Given the description of an element on the screen output the (x, y) to click on. 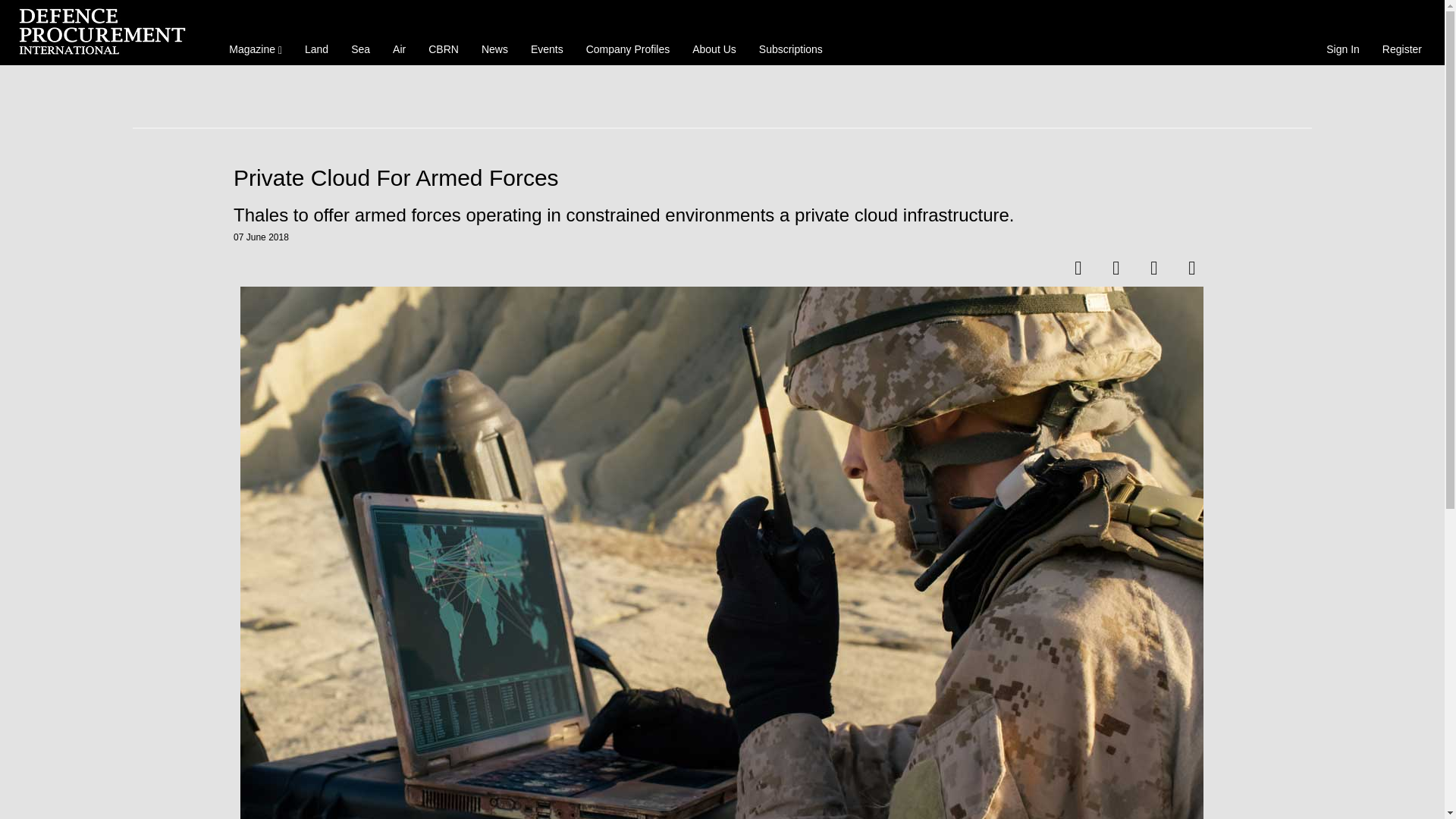
Register (1401, 47)
Events (547, 47)
News (494, 47)
Sea (360, 47)
Air (398, 47)
Sign In (1342, 47)
CBRN (443, 47)
About Us (714, 47)
Subscriptions (791, 47)
Land (316, 47)
Company Profiles (628, 47)
Magazine (255, 47)
